Given the description of an element on the screen output the (x, y) to click on. 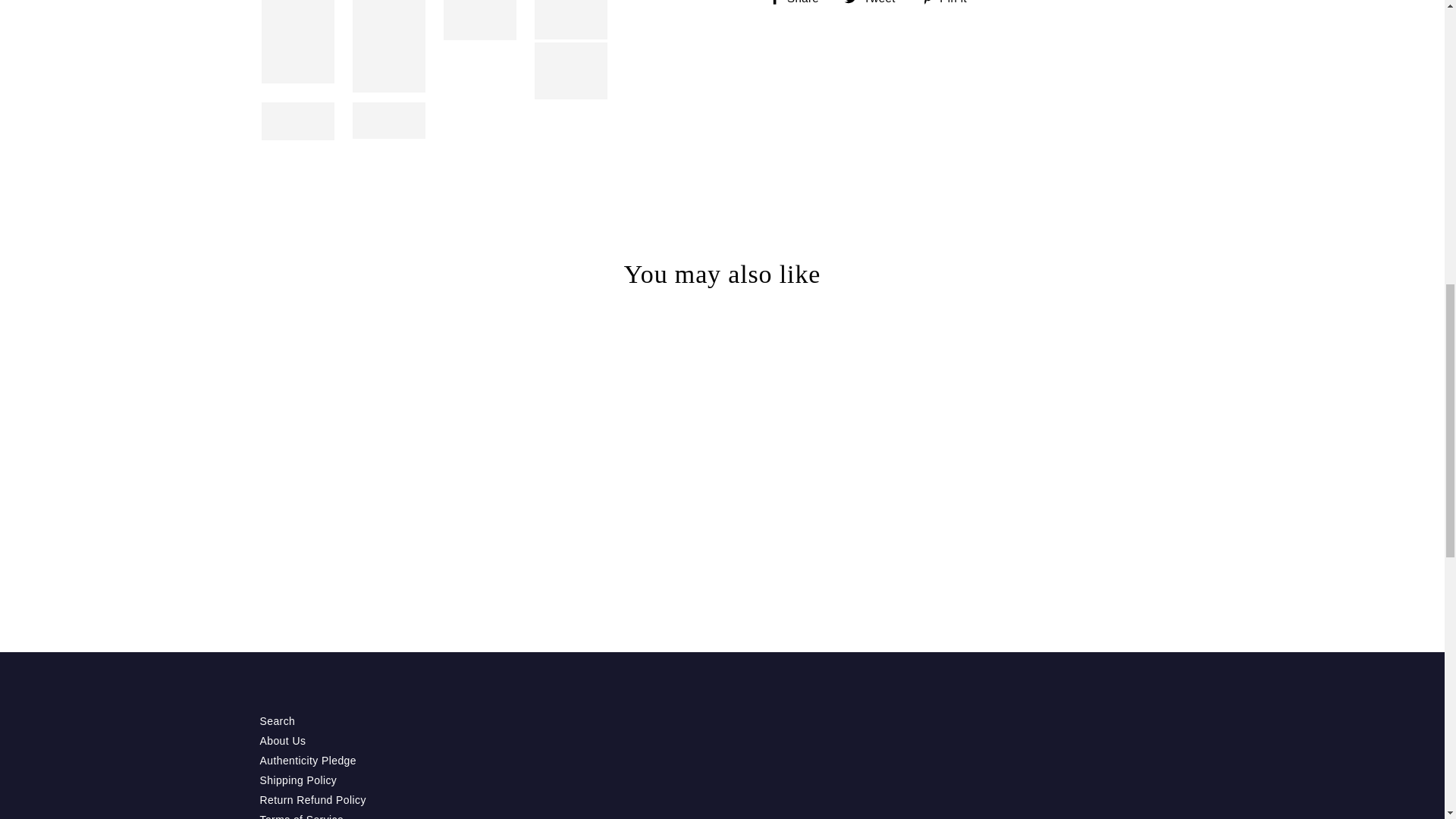
Tweet on Twitter (875, 2)
Pin on Pinterest (798, 2)
Share on Facebook (949, 2)
